Given the description of an element on the screen output the (x, y) to click on. 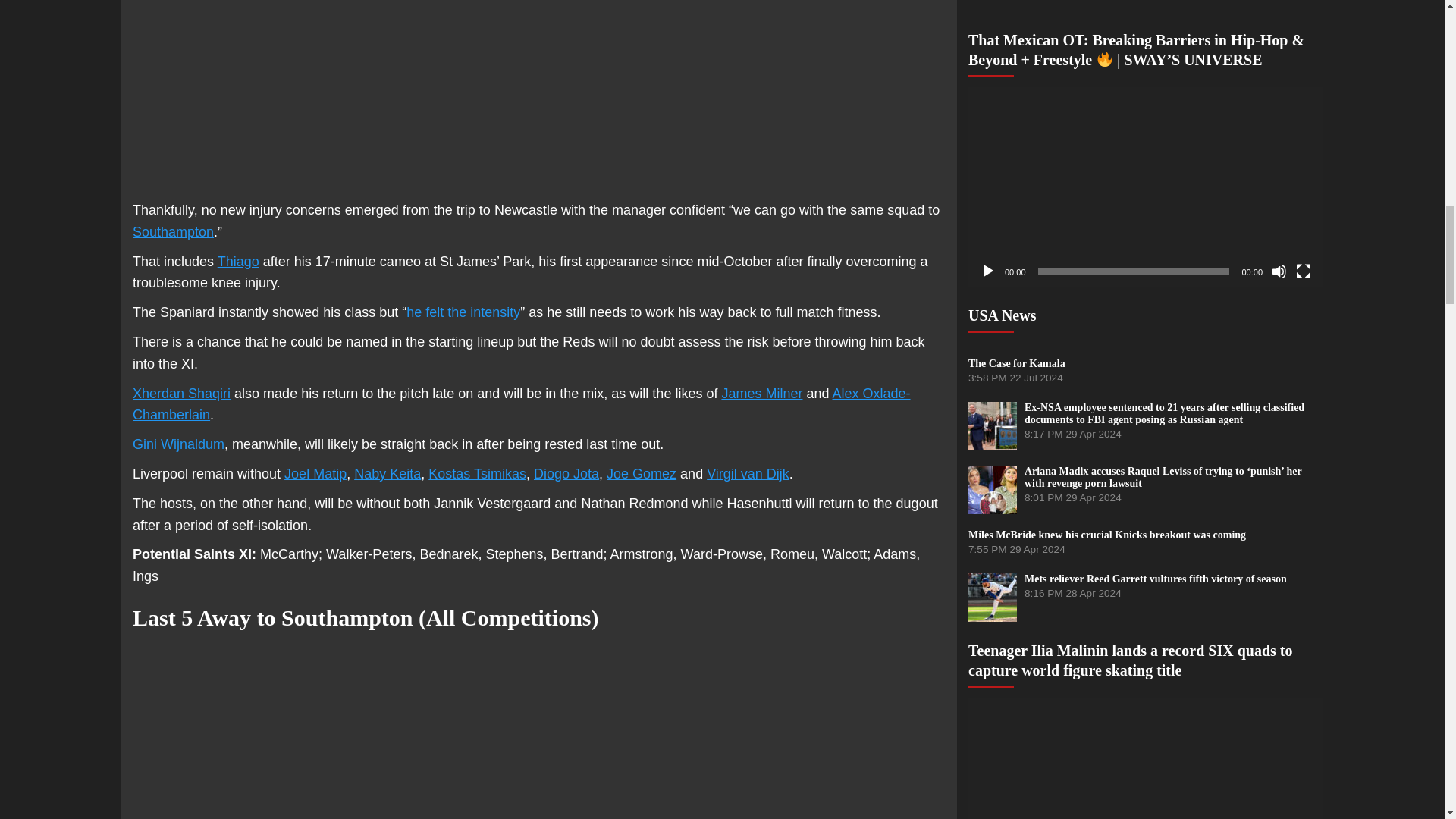
Alex Oxlade-Chamberlain (521, 404)
Kostas Tsimikas (476, 473)
Gini Wijnaldum (178, 444)
Diogo Jota (566, 473)
Thiago (237, 261)
Virgil van Dijk (747, 473)
Xherdan Shaqiri (181, 393)
Naby Keita (386, 473)
